Given the description of an element on the screen output the (x, y) to click on. 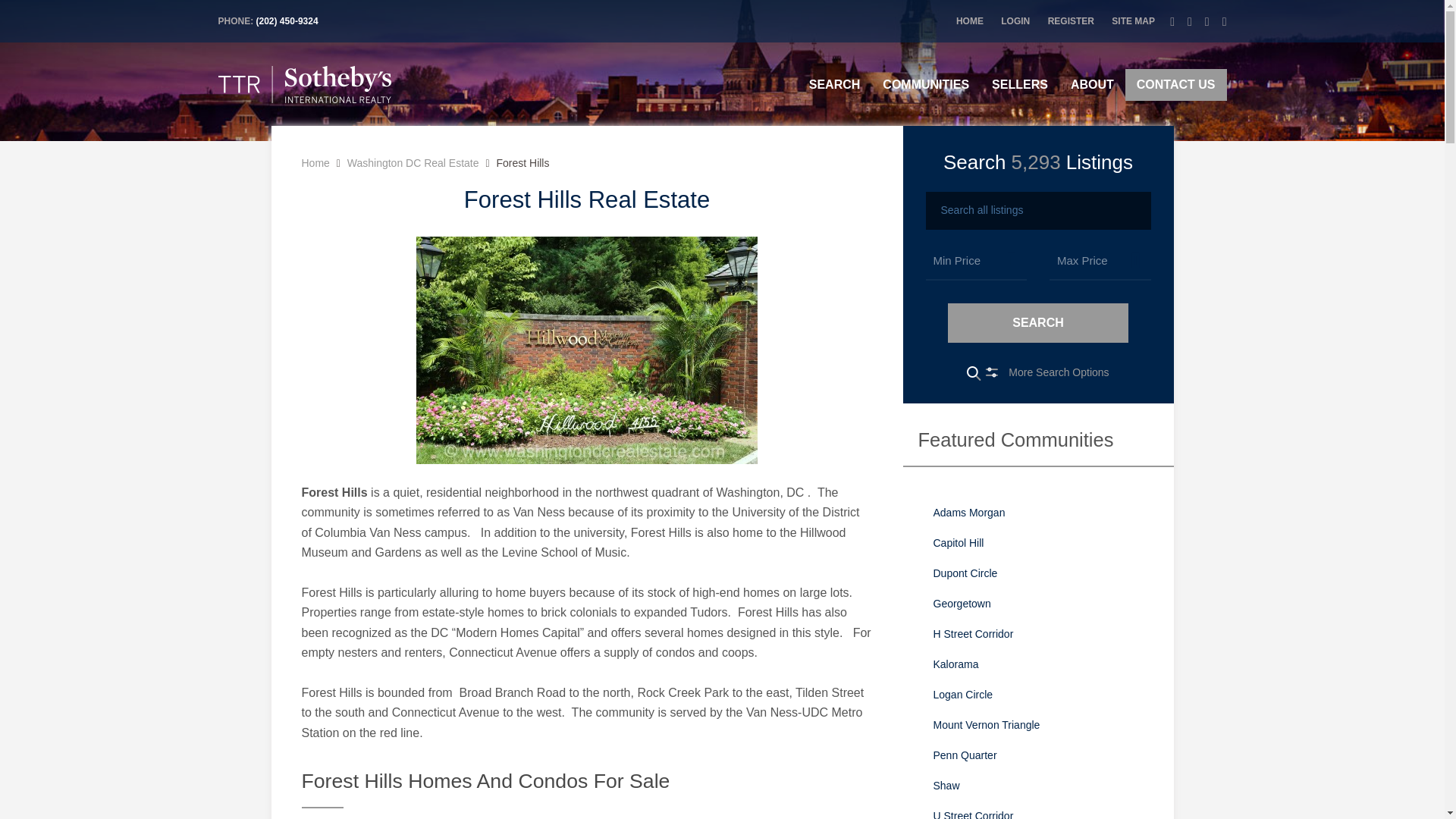
ABOUT (1092, 84)
SELLERS (1019, 84)
REGISTER (1071, 20)
LOGIN (1015, 20)
HOME (970, 20)
SEARCH (834, 84)
SITE MAP (1133, 20)
COMMUNITIES (924, 84)
